Given the description of an element on the screen output the (x, y) to click on. 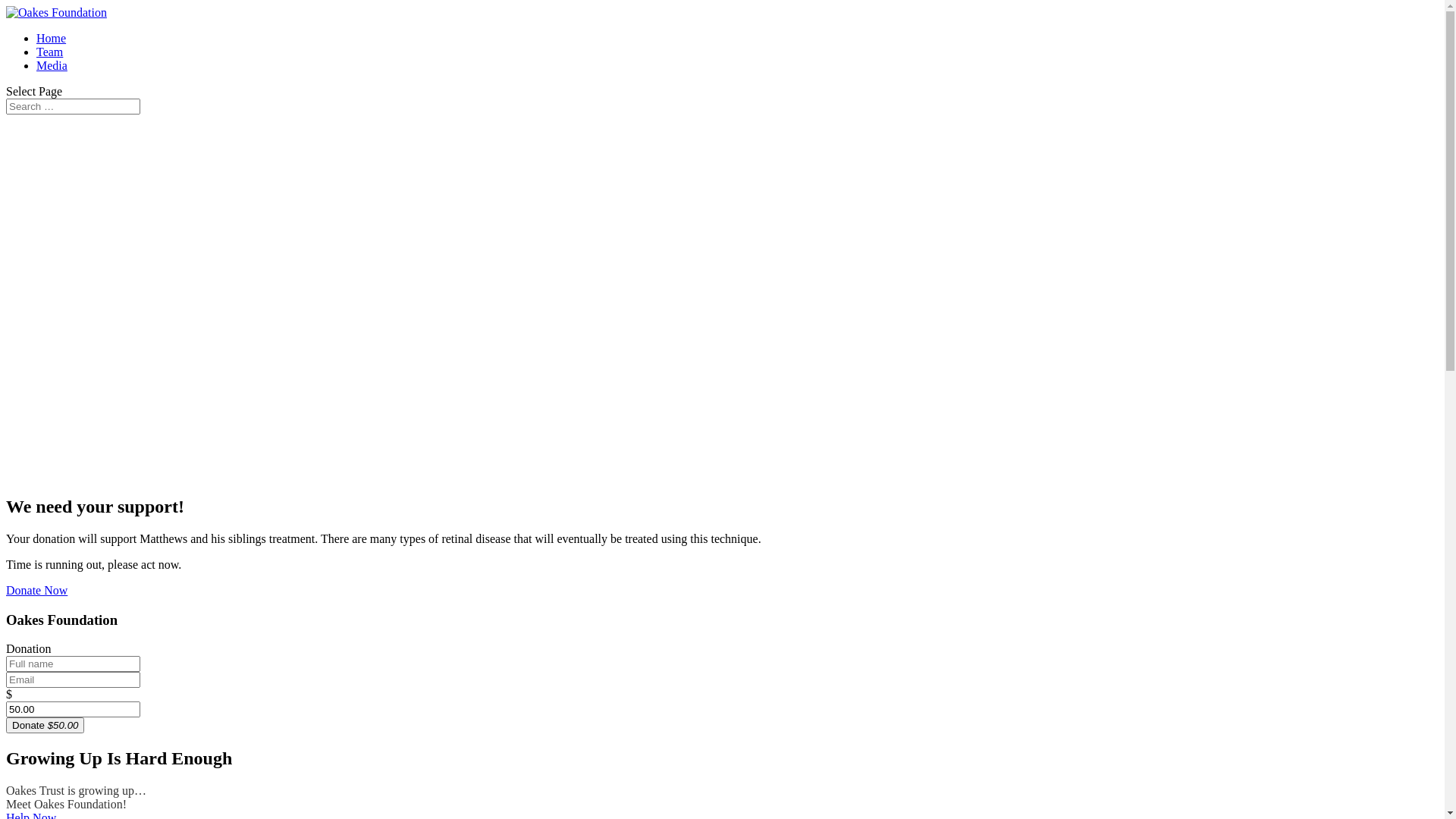
Home Element type: text (50, 37)
Search for: Element type: hover (73, 106)
Media Element type: text (51, 65)
Donate Now Element type: text (36, 589)
Donate $50.00 Element type: text (45, 725)
Team Element type: text (49, 51)
